Given the description of an element on the screen output the (x, y) to click on. 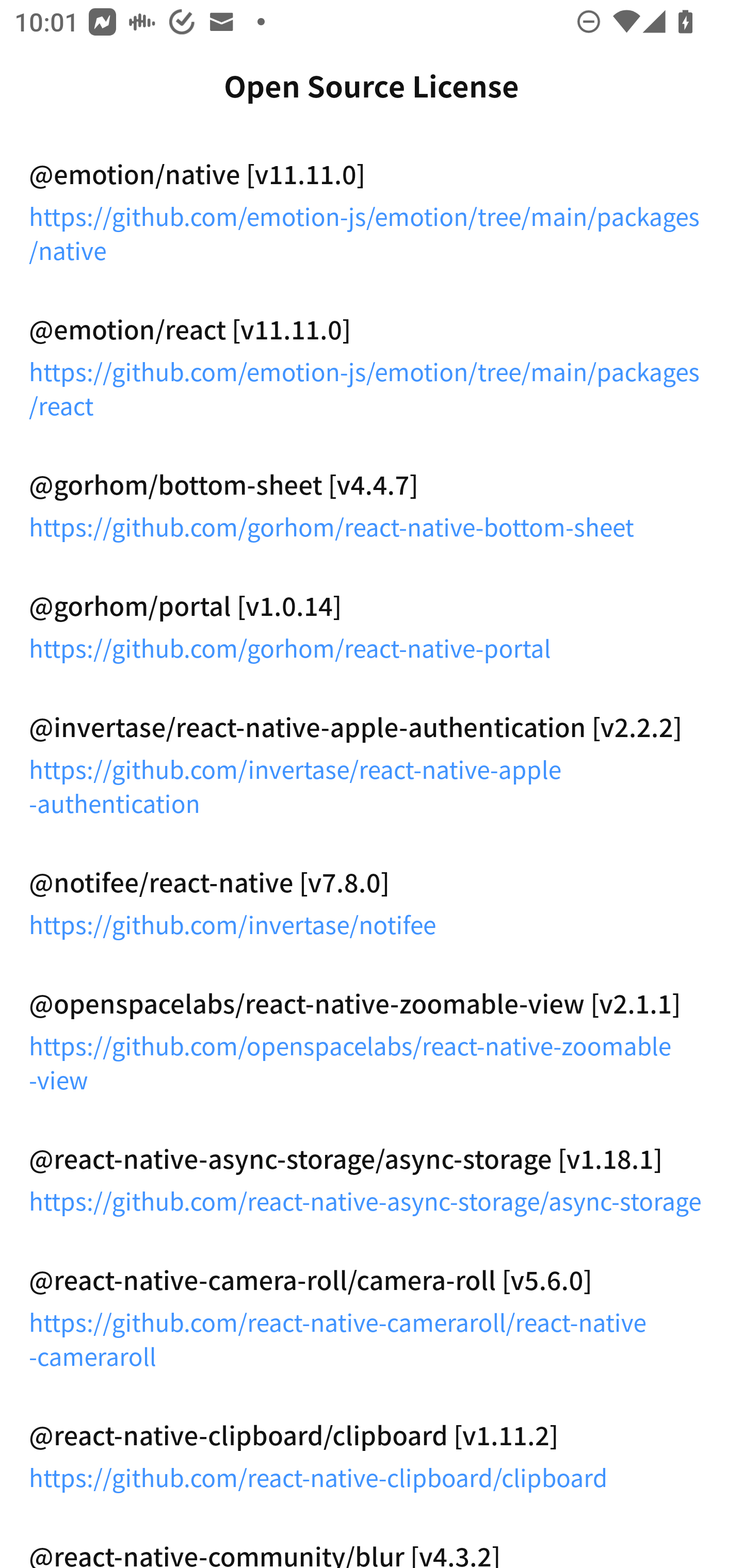
https://github.com/gorhom/react-native-portal (371, 647)
https://github.com/invertase/notifee (371, 923)
